Given the description of an element on the screen output the (x, y) to click on. 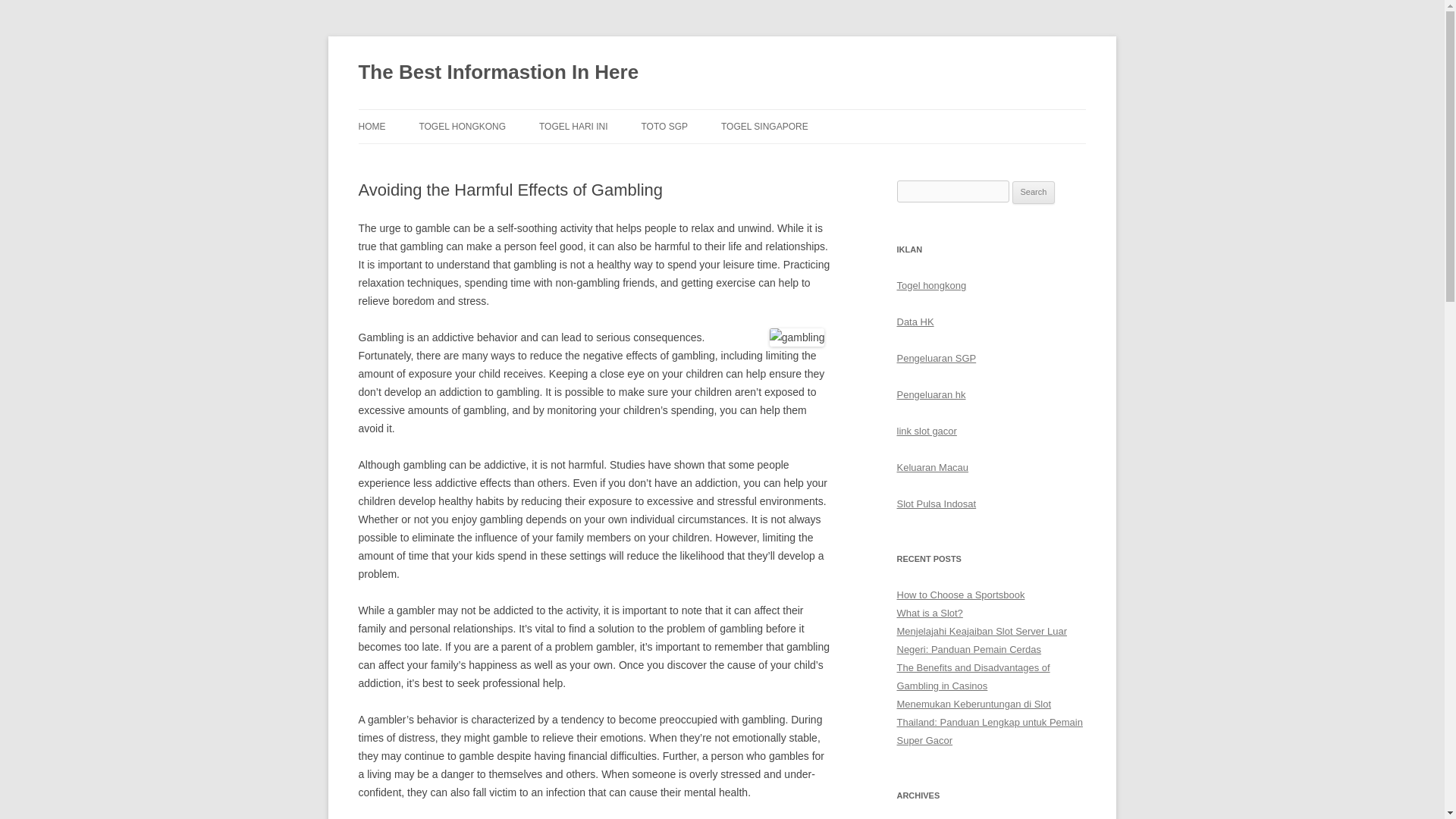
Search (1033, 191)
Pengeluaran hk (930, 394)
The Best Informastion In Here (498, 72)
Pengeluaran SGP (935, 357)
link slot gacor (926, 430)
TOTO SGP (665, 126)
What is a Slot? (929, 613)
TOGEL HARI INI (573, 126)
Slot Pulsa Indosat (935, 503)
Data HK (914, 321)
Togel hongkong (931, 285)
Search (1033, 191)
How to Choose a Sportsbook (960, 594)
